Given the description of an element on the screen output the (x, y) to click on. 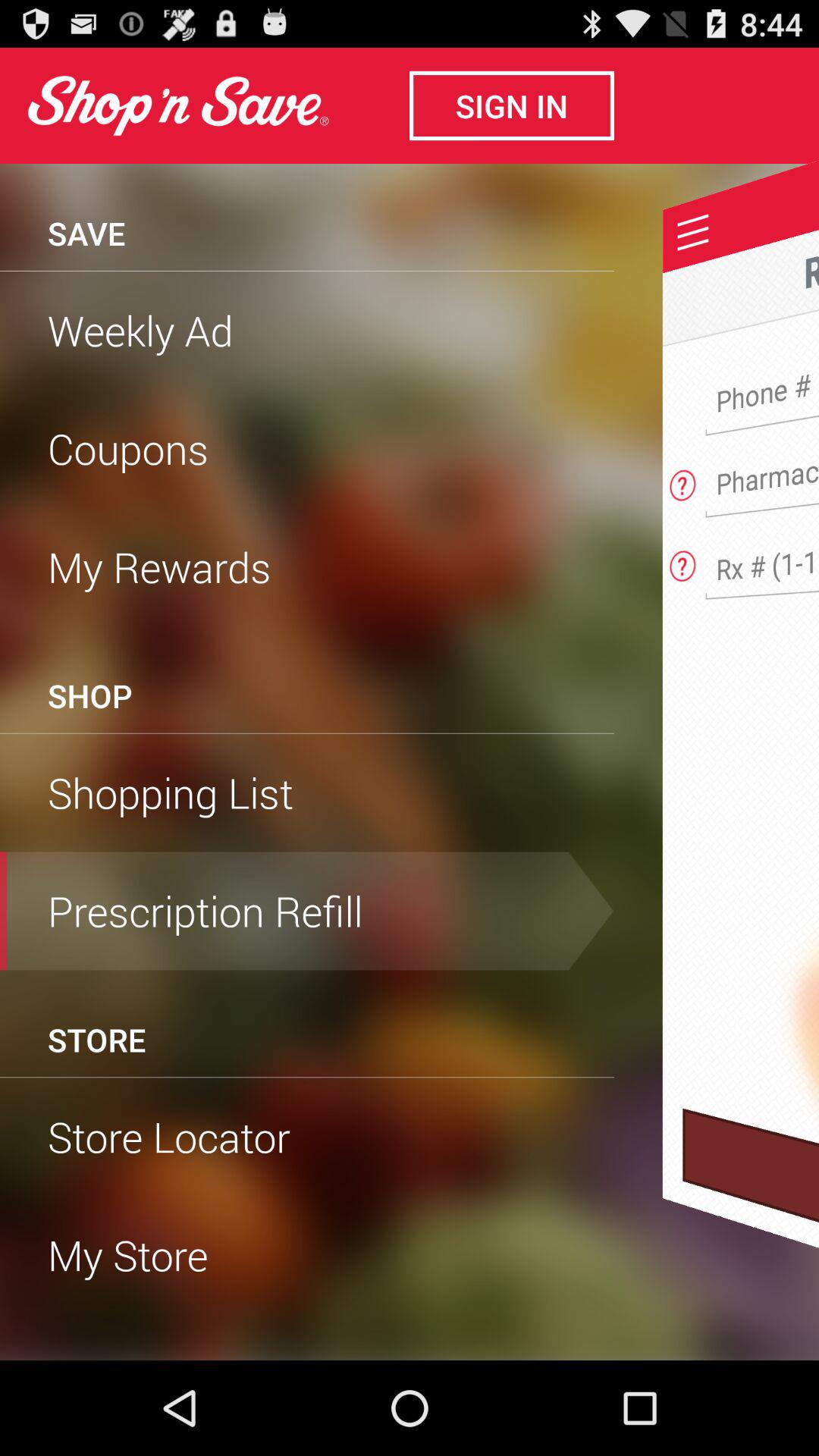
select the shop item (89, 695)
